Given the description of an element on the screen output the (x, y) to click on. 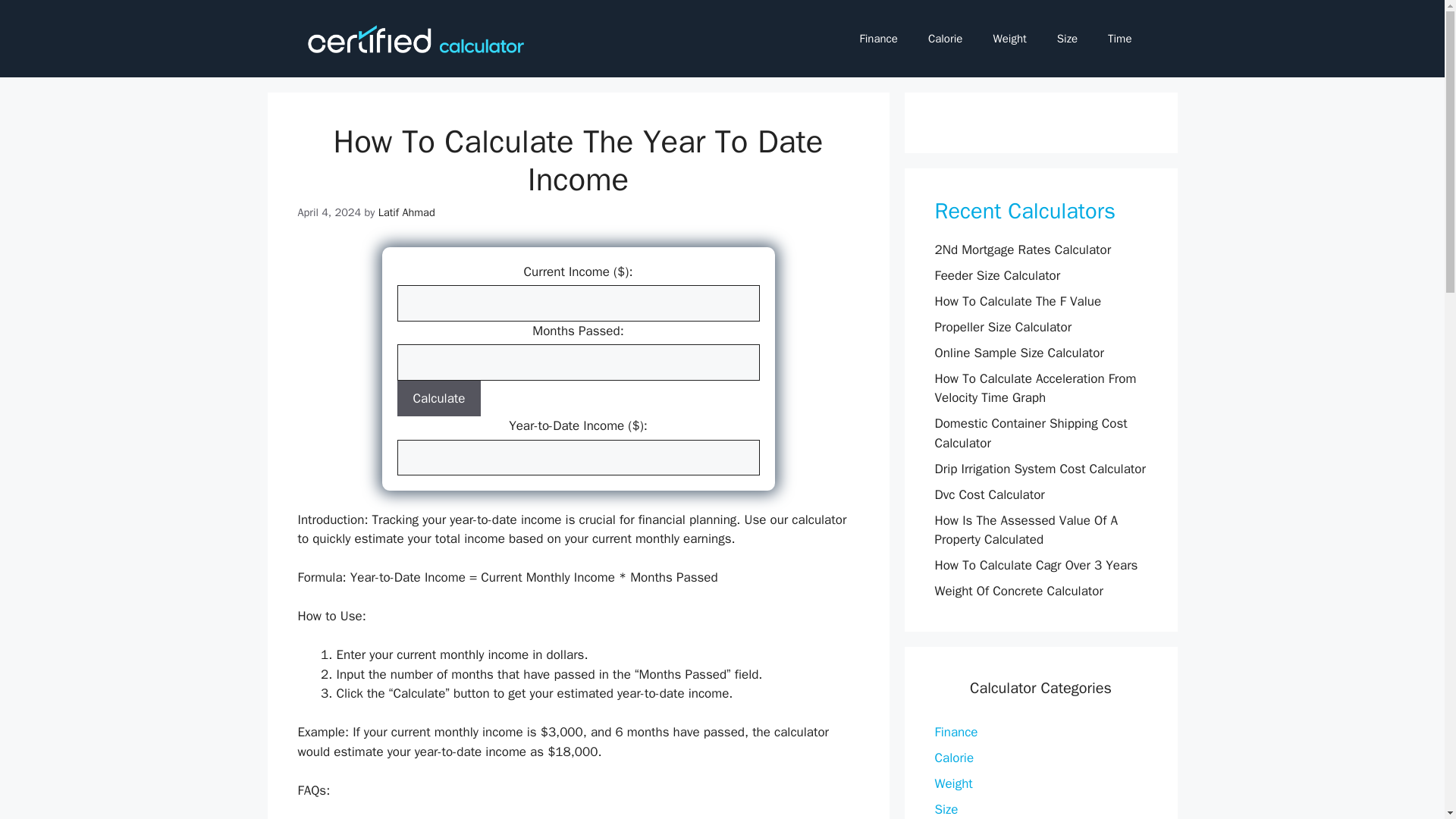
Weight Of Concrete Calculator (1018, 590)
Propeller Size Calculator (1002, 326)
Weight (1008, 38)
Latif Ahmad (406, 212)
Online Sample Size Calculator (1018, 352)
Time (1120, 38)
Dvc Cost Calculator (988, 494)
How To Calculate Acceleration From Velocity Time Graph (1034, 388)
How Is The Assessed Value Of A Property Calculated (1025, 529)
Calculate (439, 398)
